Given the description of an element on the screen output the (x, y) to click on. 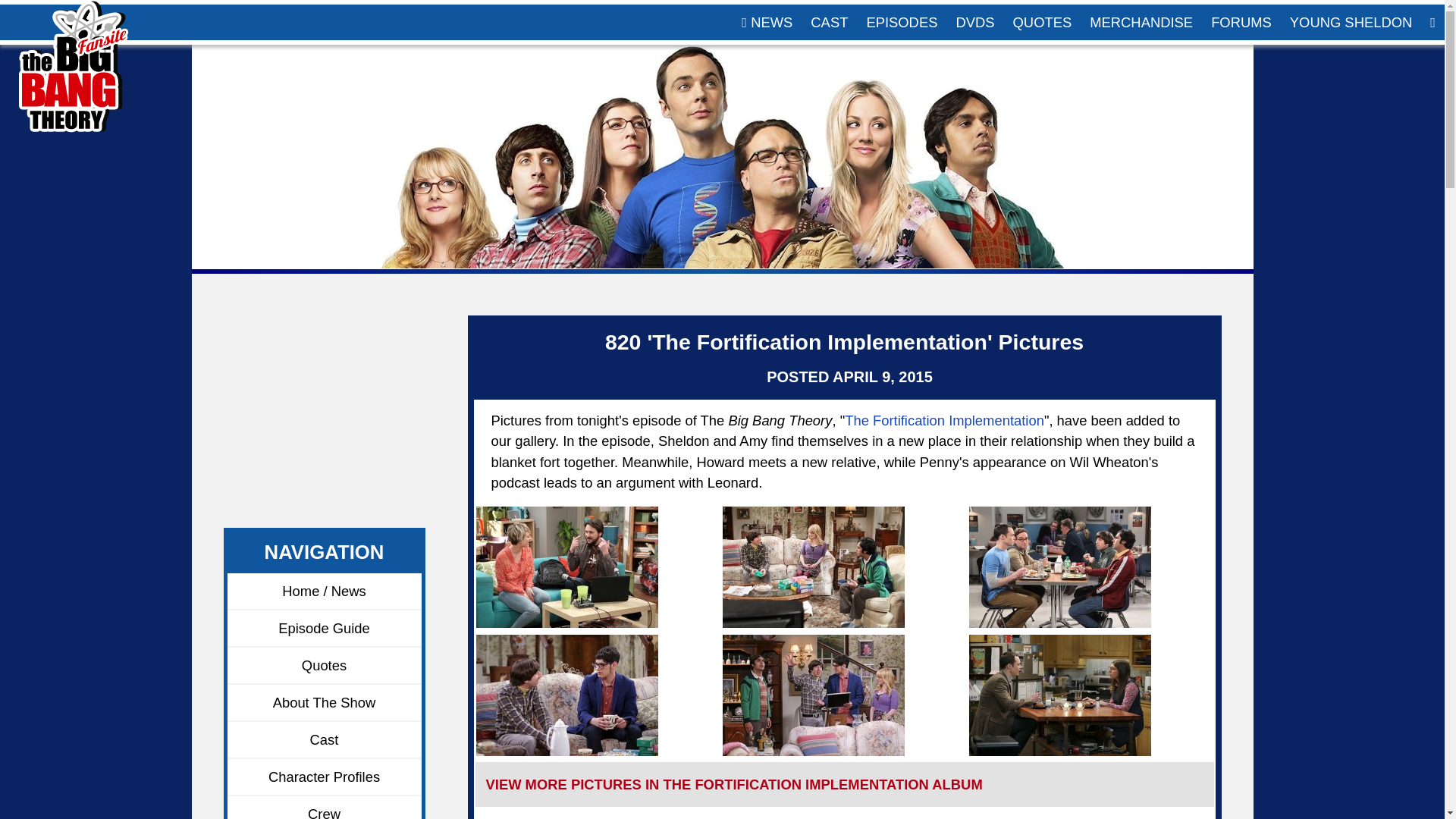
YOUNG SHELDON (1351, 22)
About The Show (324, 702)
Crew (324, 807)
Character Profiles (324, 777)
FORUMS (1241, 22)
Advertisement (314, 425)
EPISODES (901, 22)
CAST (829, 22)
Quotes (324, 665)
QUOTES (1042, 22)
MERCHANDISE (1141, 22)
Cast (324, 740)
DVDS (974, 22)
Episode Guide (324, 628)
NEWS (767, 22)
